Given the description of an element on the screen output the (x, y) to click on. 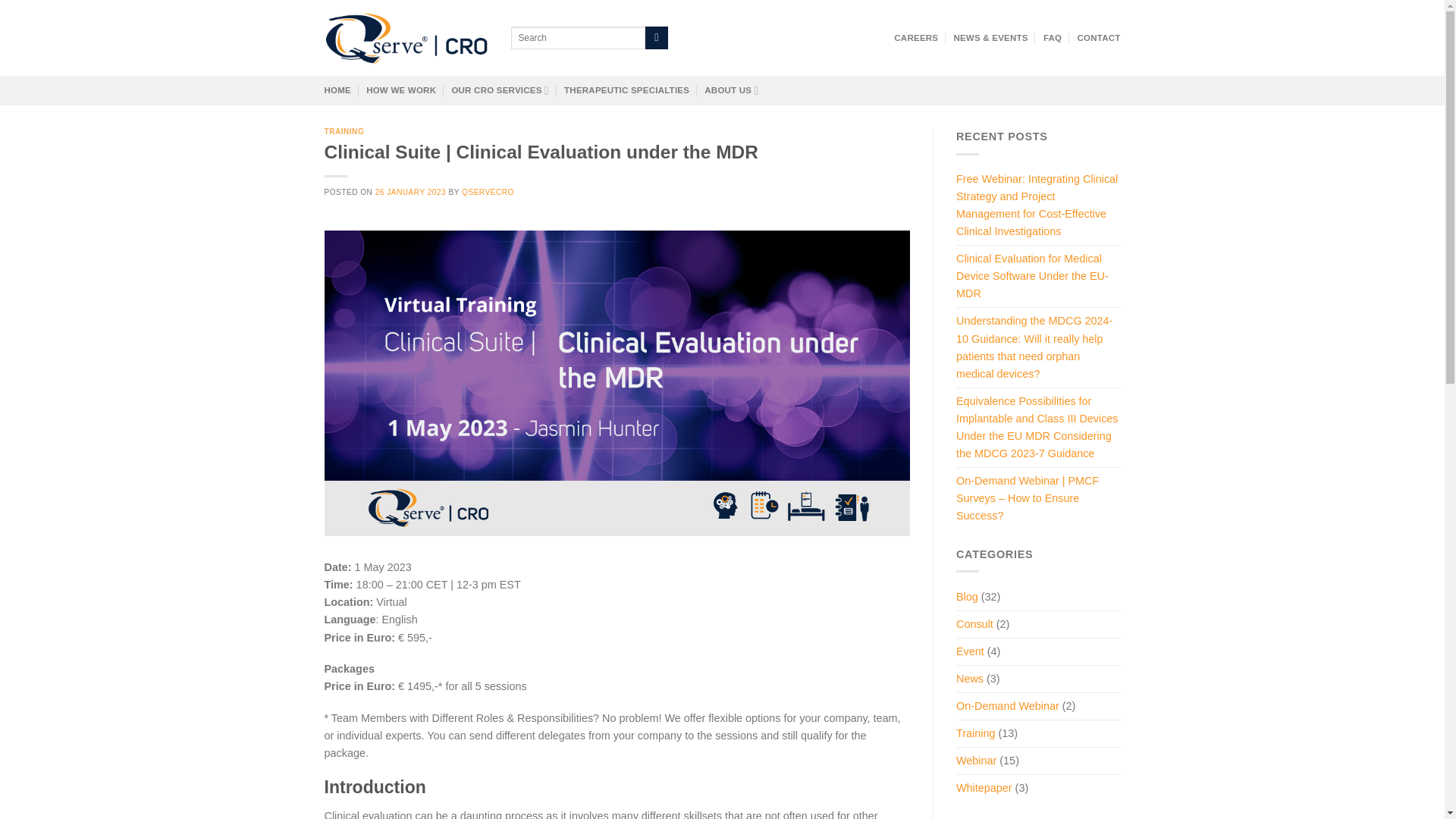
TRAINING (344, 131)
HOME (337, 90)
QSERVECRO (487, 192)
ABOUT US (731, 90)
Qserve CRO - Full scope Medical Device CRO (405, 38)
OUR CRO SERVICES (499, 90)
CAREERS (915, 37)
CONTACT (1098, 37)
HOW WE WORK (400, 90)
